Given the description of an element on the screen output the (x, y) to click on. 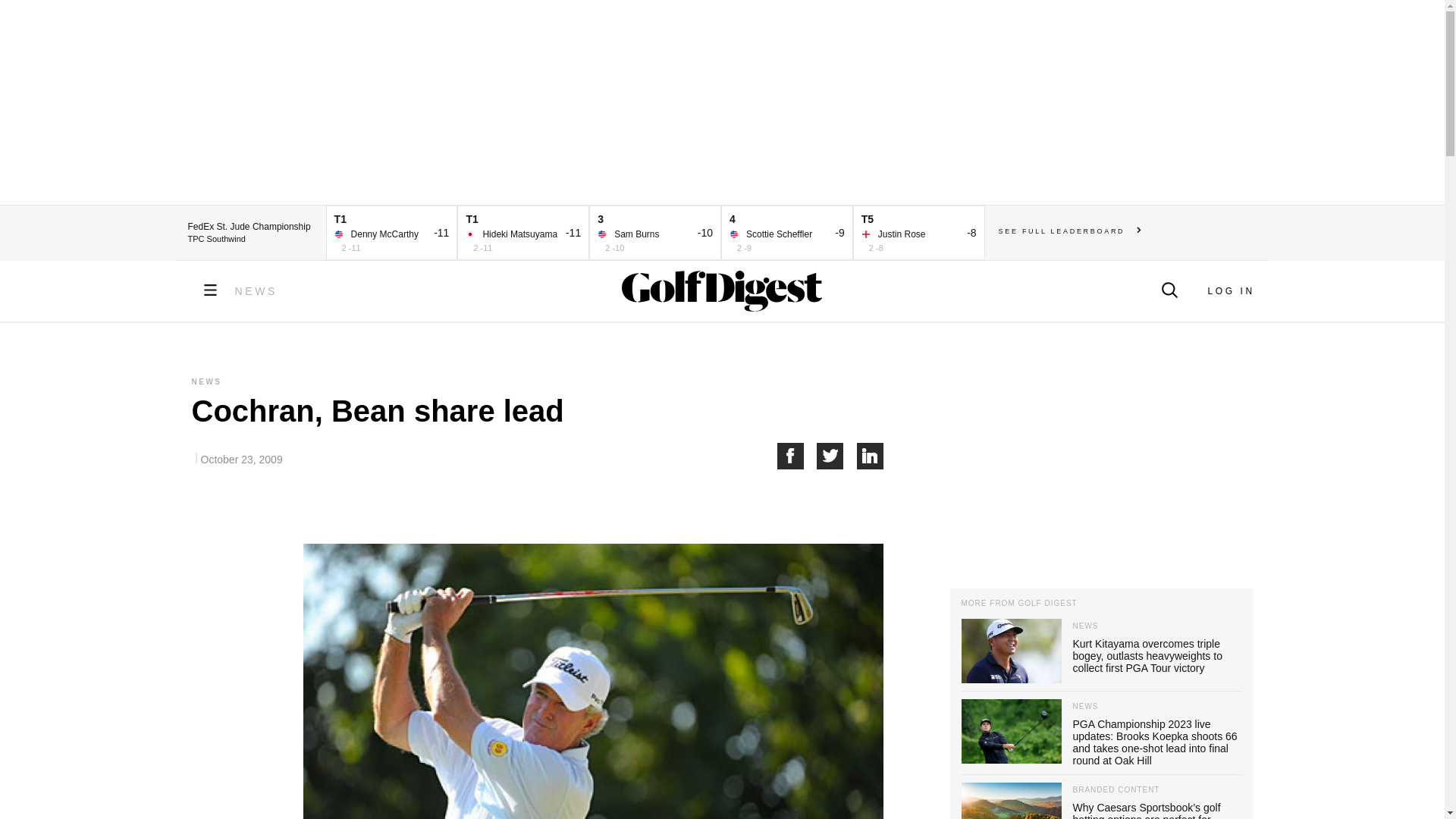
NEWS (256, 291)
Share on Twitter (836, 456)
SEE FULL LEADERBOARD (1069, 230)
LOG IN (1230, 290)
Share on Facebook (796, 456)
Share on LinkedIn (870, 456)
